Given the description of an element on the screen output the (x, y) to click on. 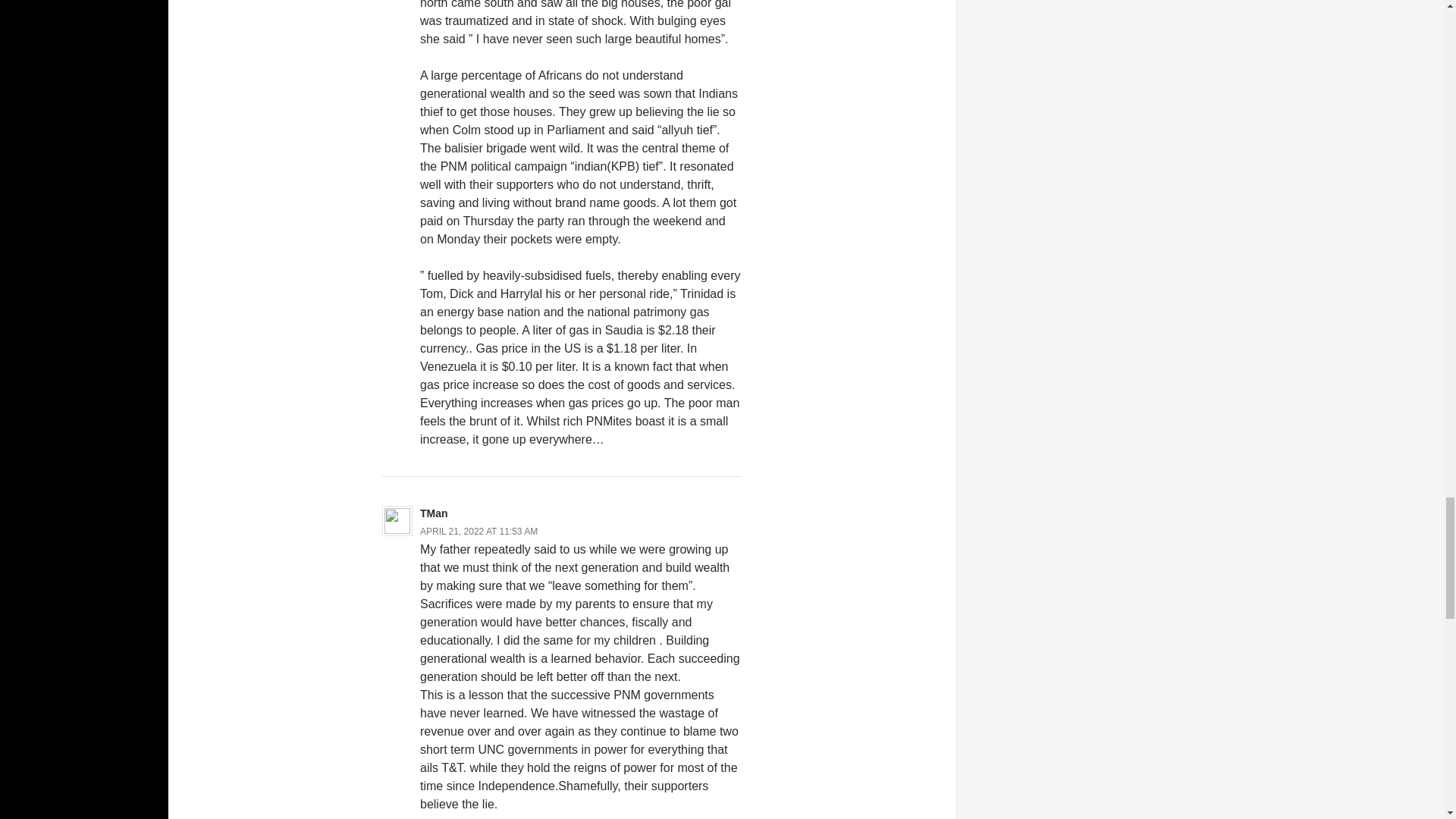
APRIL 21, 2022 AT 11:53 AM (478, 531)
